Given the description of an element on the screen output the (x, y) to click on. 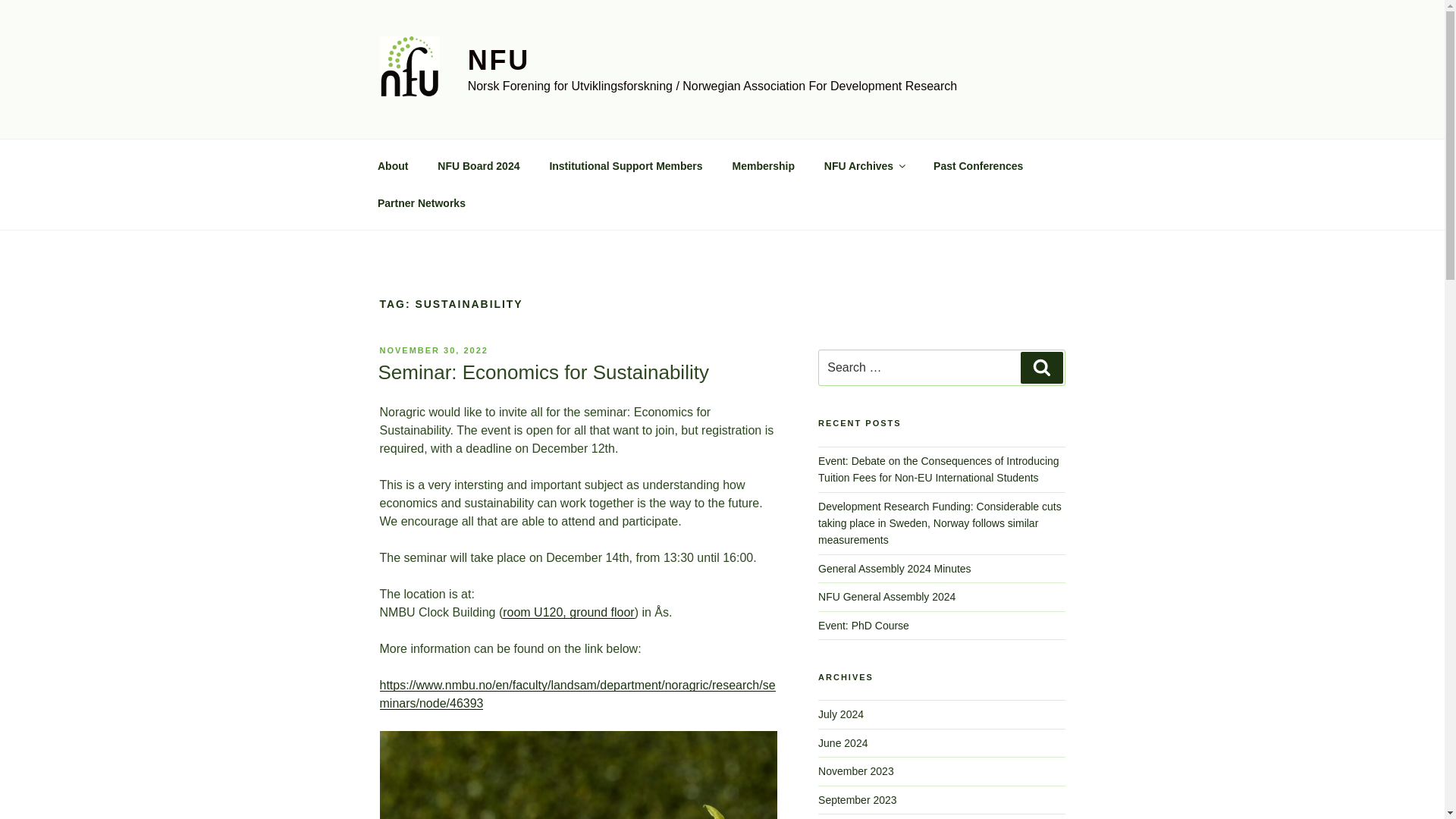
General Assembly 2024 Minutes (894, 568)
Search (1041, 368)
room U120, ground floor (567, 612)
NFU General Assembly 2024 (886, 596)
Event: PhD Course (863, 625)
NOVEMBER 30, 2022 (432, 349)
Seminar: Economics for Sustainability (542, 372)
September 2023 (857, 799)
June 2024 (842, 743)
NFU Board 2024 (478, 165)
About (392, 165)
Partner Networks (421, 203)
Institutional Support Members (625, 165)
